Given the description of an element on the screen output the (x, y) to click on. 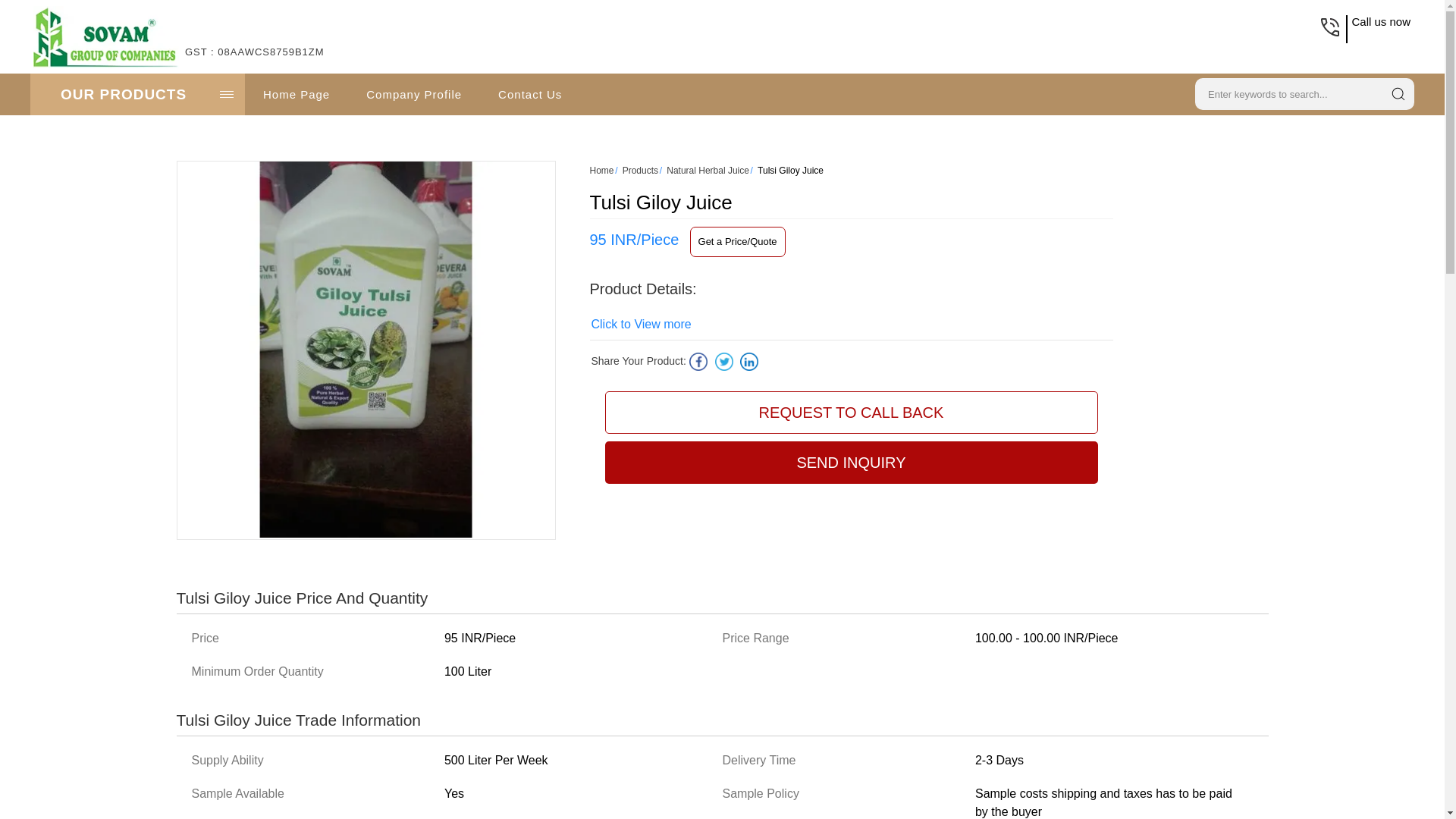
submit (1398, 93)
OUR PRODUCTS (137, 94)
submit (1398, 93)
Enter keywords to search... (1286, 92)
GST : 08AAWCS8759B1ZM (254, 60)
